Given the description of an element on the screen output the (x, y) to click on. 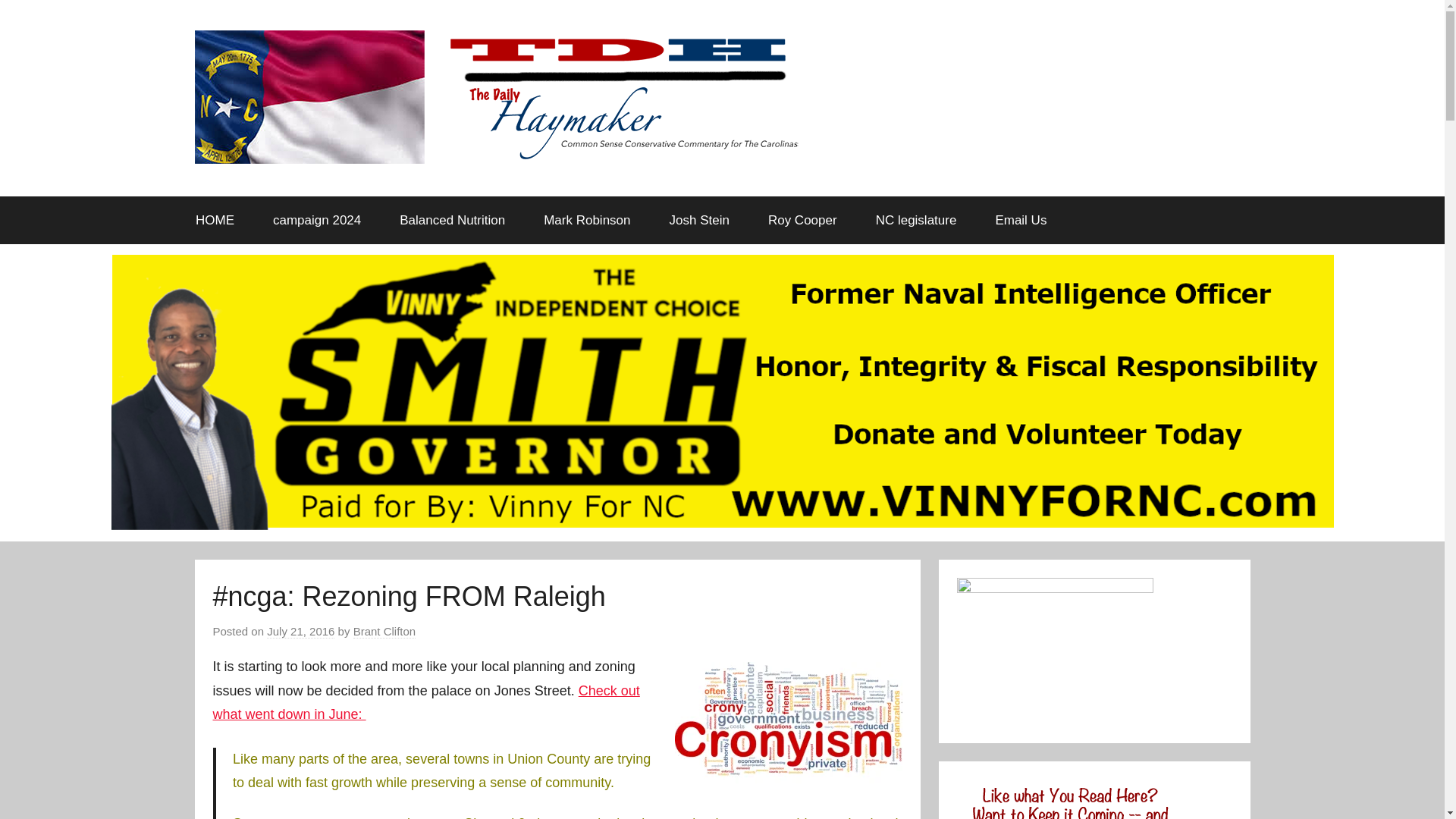
Balanced Nutrition (452, 219)
Brant Clifton (384, 631)
Email Us (1020, 219)
HOME (214, 219)
Josh Stein (698, 219)
Roy Cooper (802, 219)
View all posts by Brant Clifton (384, 631)
July 21, 2016 (300, 631)
Check out what went down in June:  (425, 702)
Mark Robinson (586, 219)
